Given the description of an element on the screen output the (x, y) to click on. 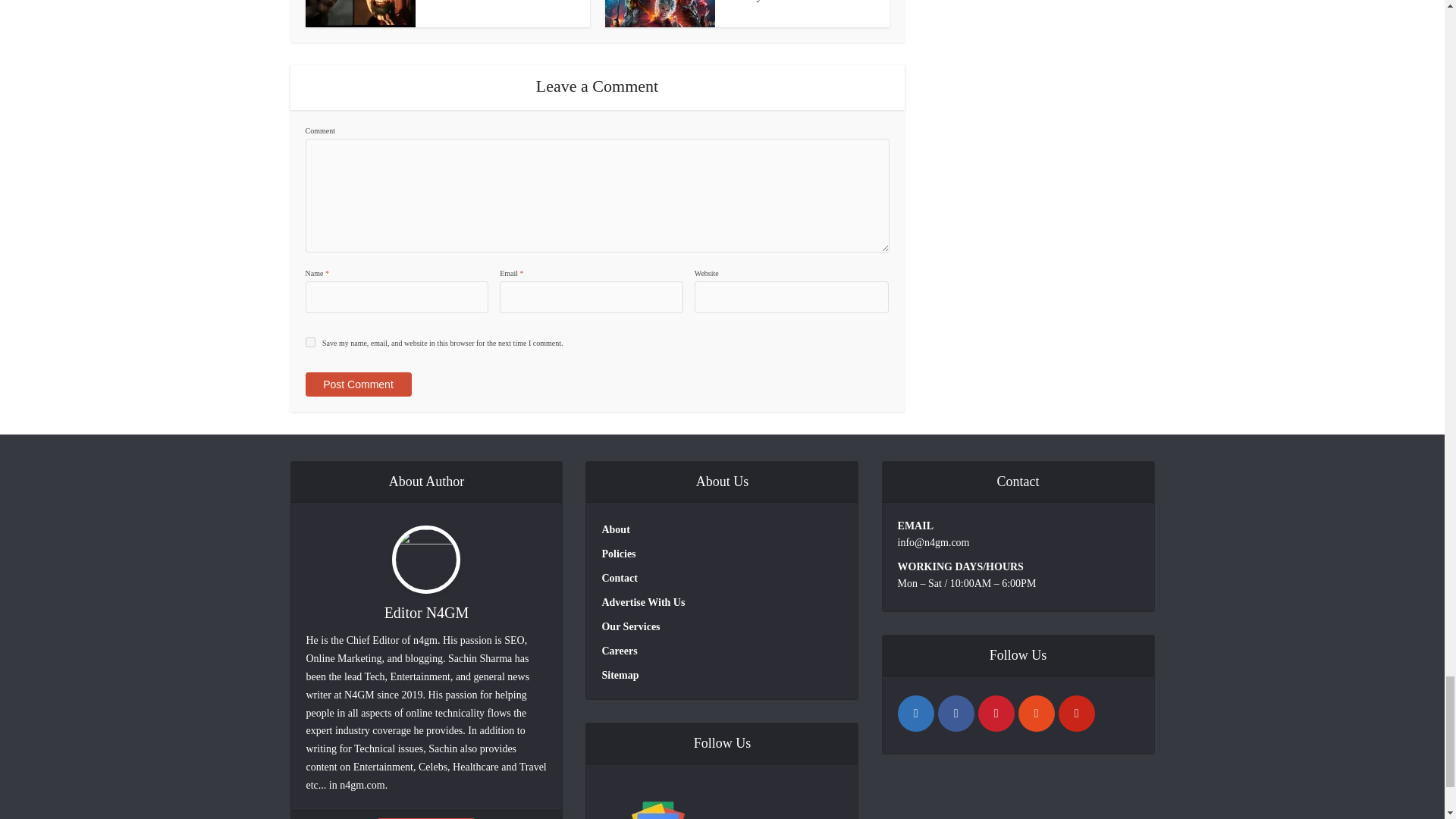
yes (309, 342)
Post Comment (357, 384)
